Given the description of an element on the screen output the (x, y) to click on. 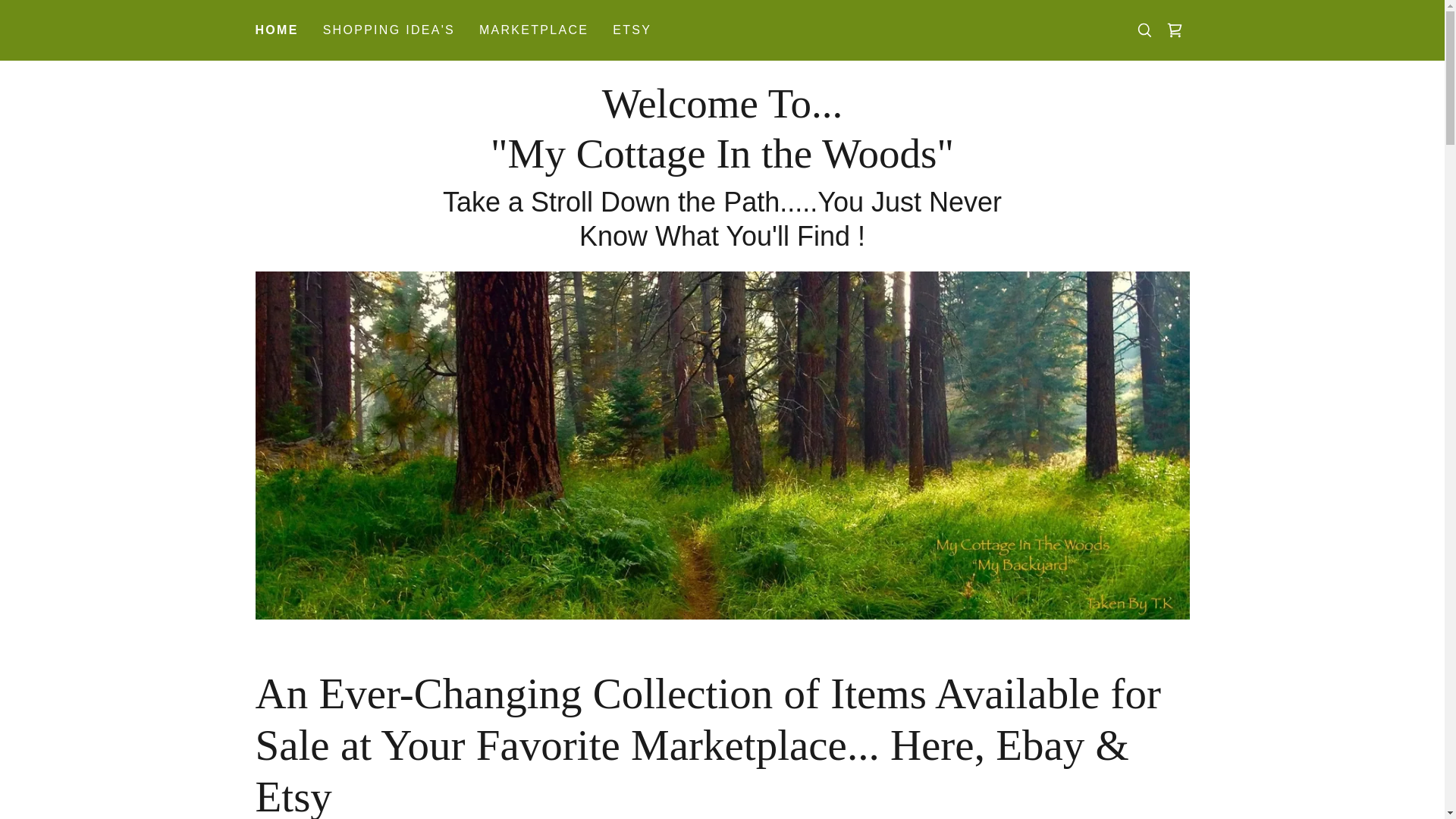
HOME (721, 162)
SHOPPING IDEA'S (276, 30)
MARKETPLACE (389, 30)
ETSY (533, 30)
